Given the description of an element on the screen output the (x, y) to click on. 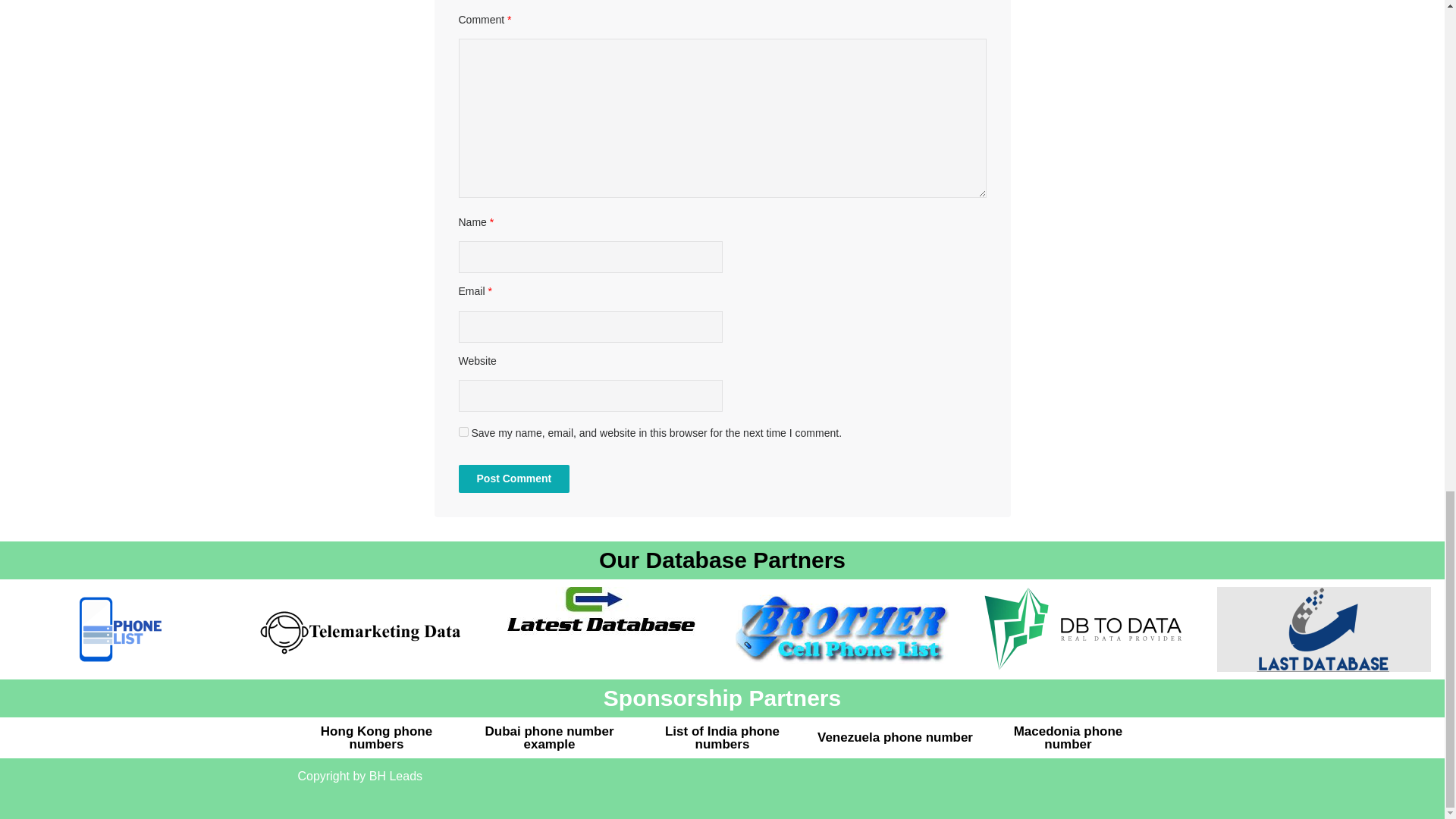
Post Comment (513, 479)
yes (462, 431)
Post Comment (513, 479)
